Given the description of an element on the screen output the (x, y) to click on. 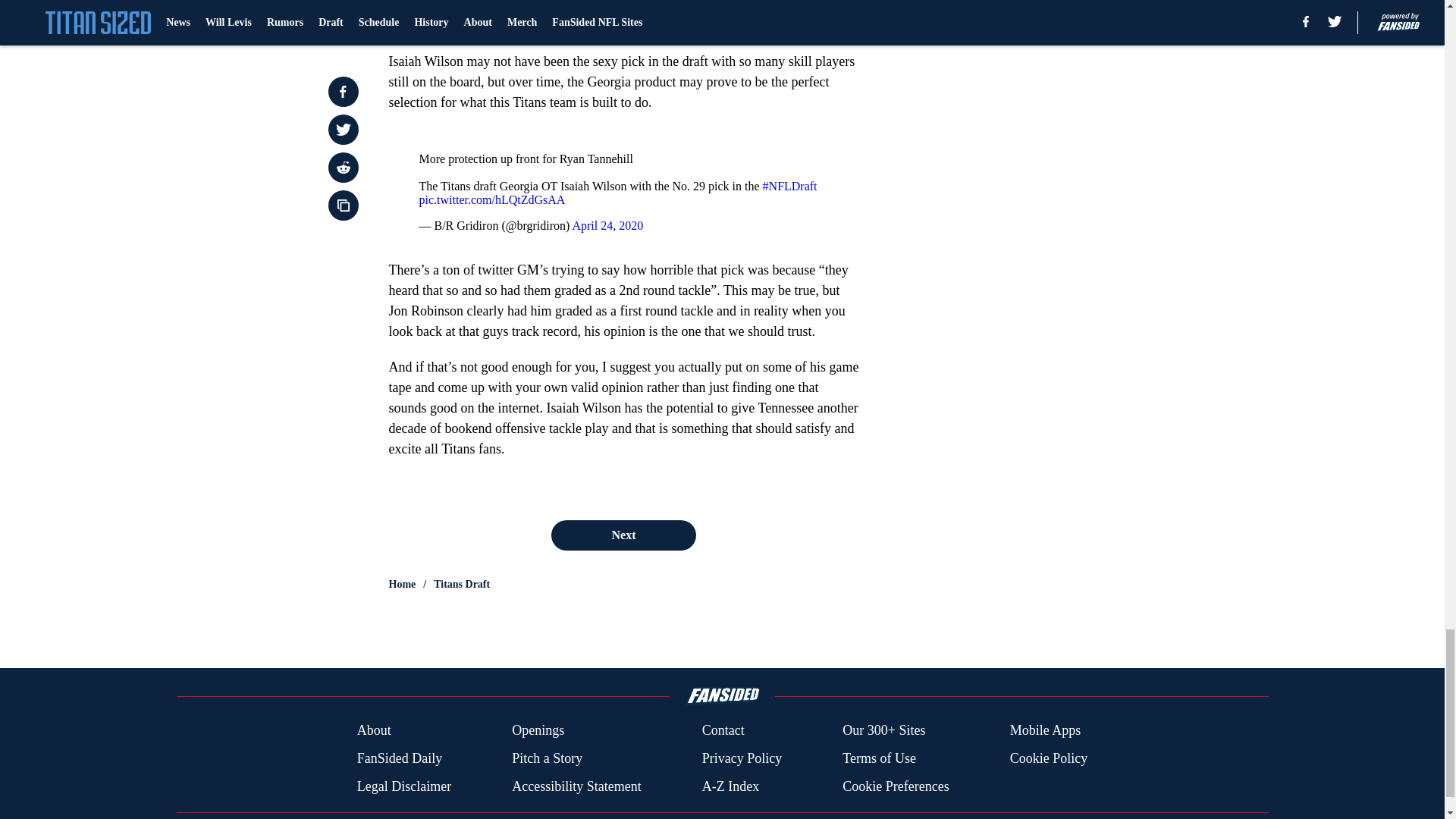
April 24, 2020 (607, 225)
Titans Draft (461, 584)
Next (622, 535)
Home (401, 584)
About (373, 730)
